Given the description of an element on the screen output the (x, y) to click on. 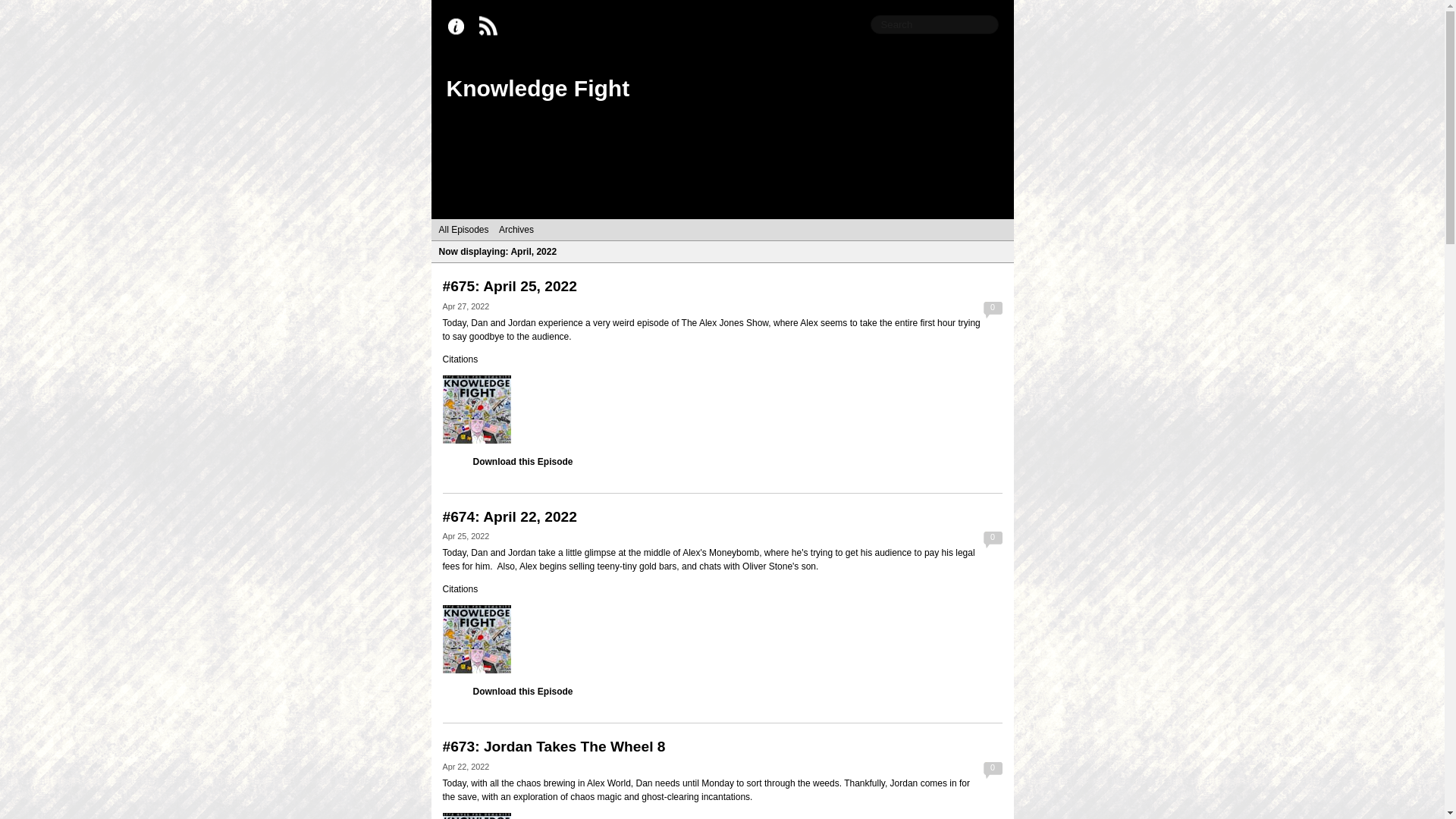
Libsyn Player (722, 409)
Knowledge Fight (536, 88)
RSS Feed (491, 26)
Libsyn Player (722, 639)
